Given the description of an element on the screen output the (x, y) to click on. 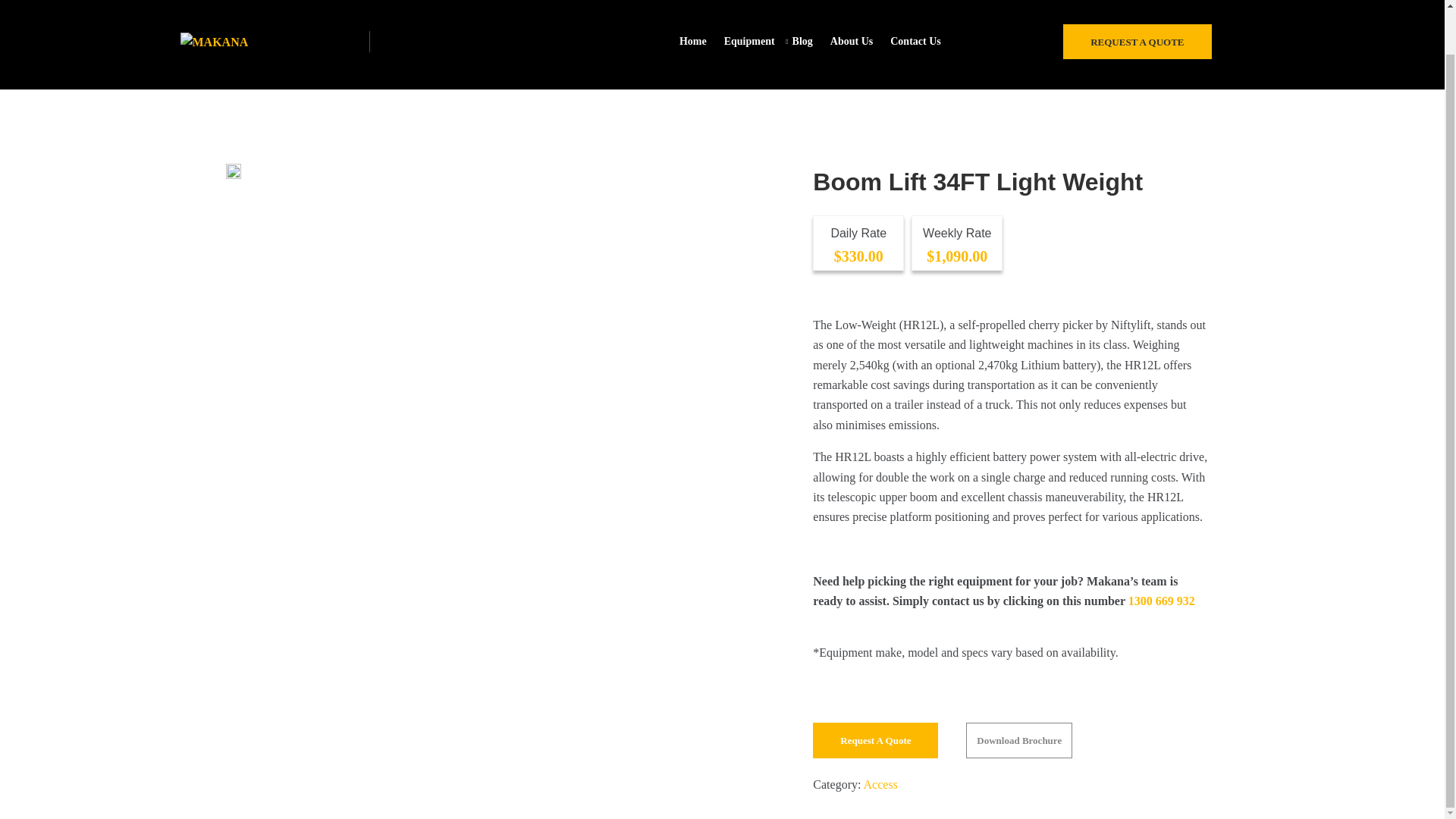
About Us (859, 41)
Contact Us (923, 41)
Nifty 34FT light weight webp (233, 171)
REQUEST A QUOTE (1136, 41)
Equipment (757, 41)
Home (701, 41)
MAKANA (229, 41)
Blog (810, 41)
